Given the description of an element on the screen output the (x, y) to click on. 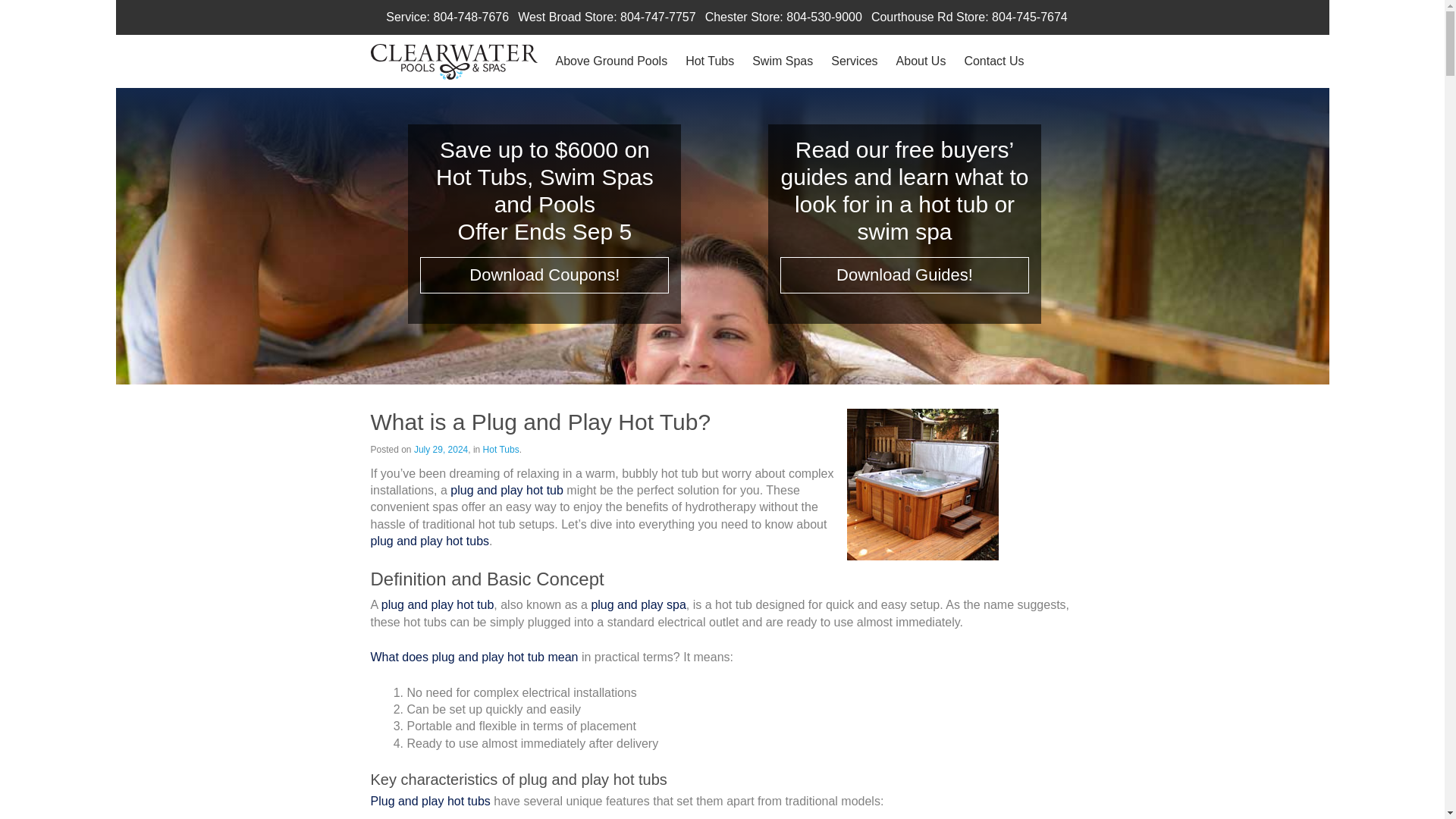
Hot Tubs (709, 61)
Above Ground Pools (610, 61)
Download Guides! (904, 275)
July 29, 2024 (440, 449)
Swim Spas (782, 61)
Services (854, 61)
Hot Tubs (501, 449)
Download Coupons! (544, 275)
About Us (921, 61)
Contact Us (993, 61)
